Given the description of an element on the screen output the (x, y) to click on. 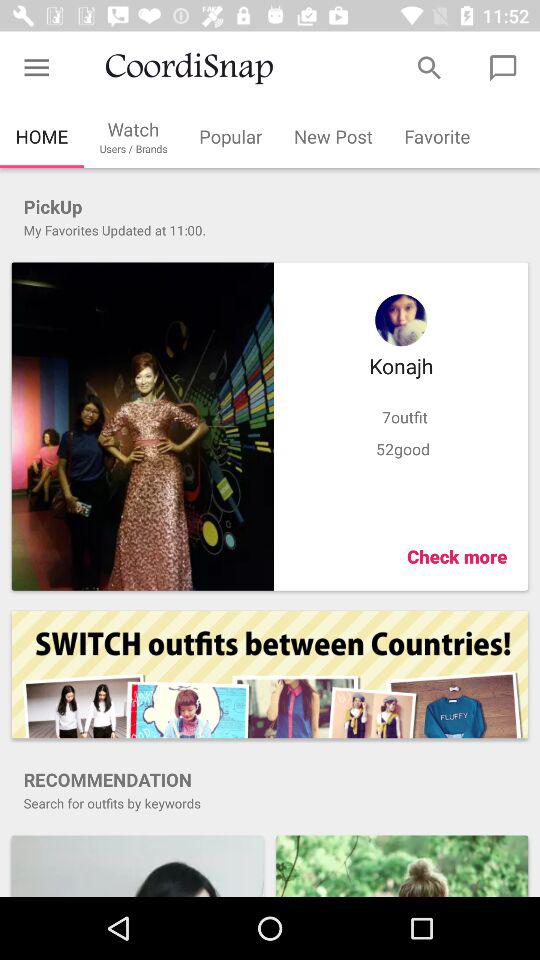
select recommendation outfit picture (402, 865)
